Given the description of an element on the screen output the (x, y) to click on. 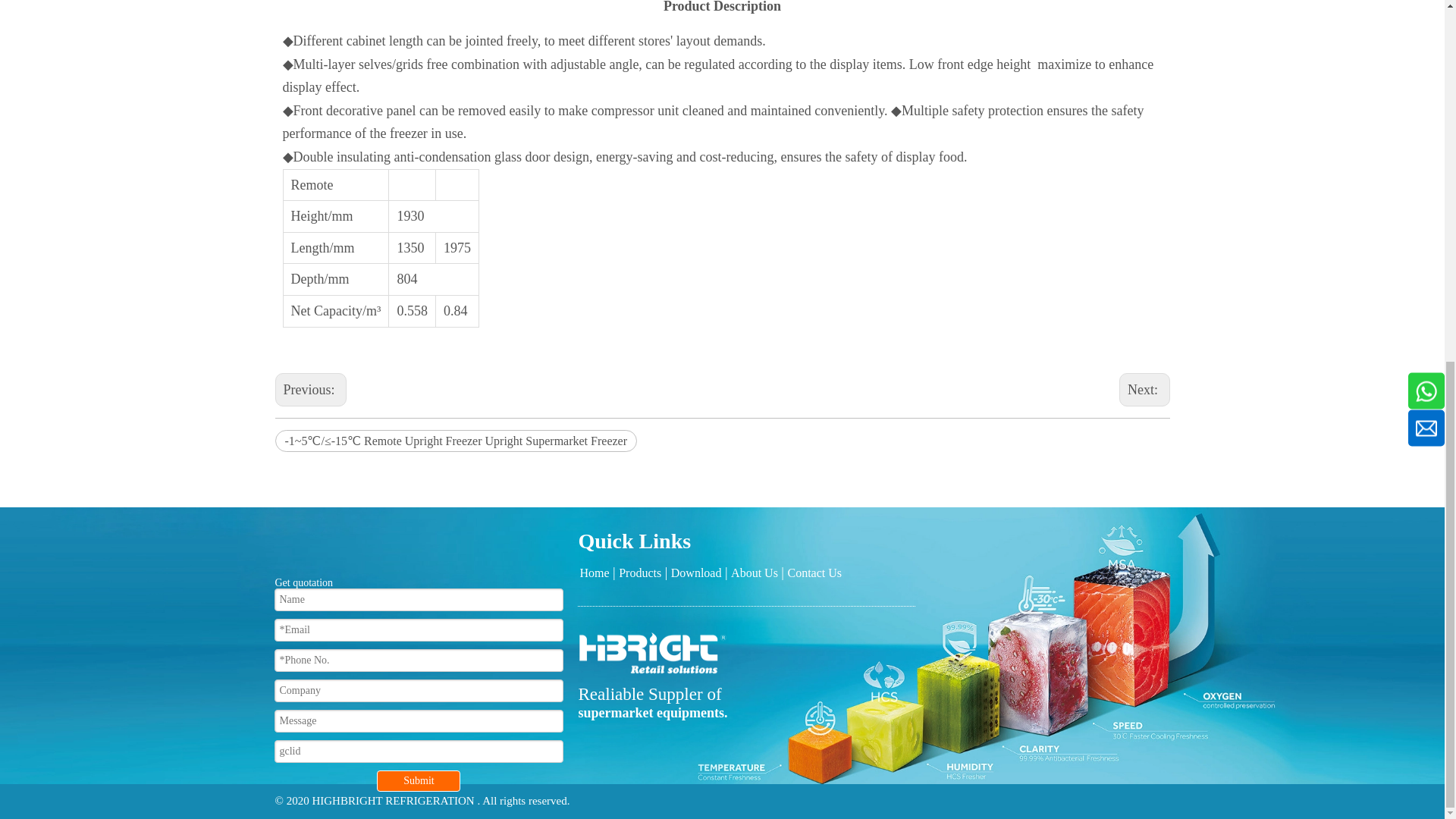
Products (639, 572)
Download (696, 572)
About Us (753, 572)
Contact Us (814, 572)
Home (593, 572)
